Given the description of an element on the screen output the (x, y) to click on. 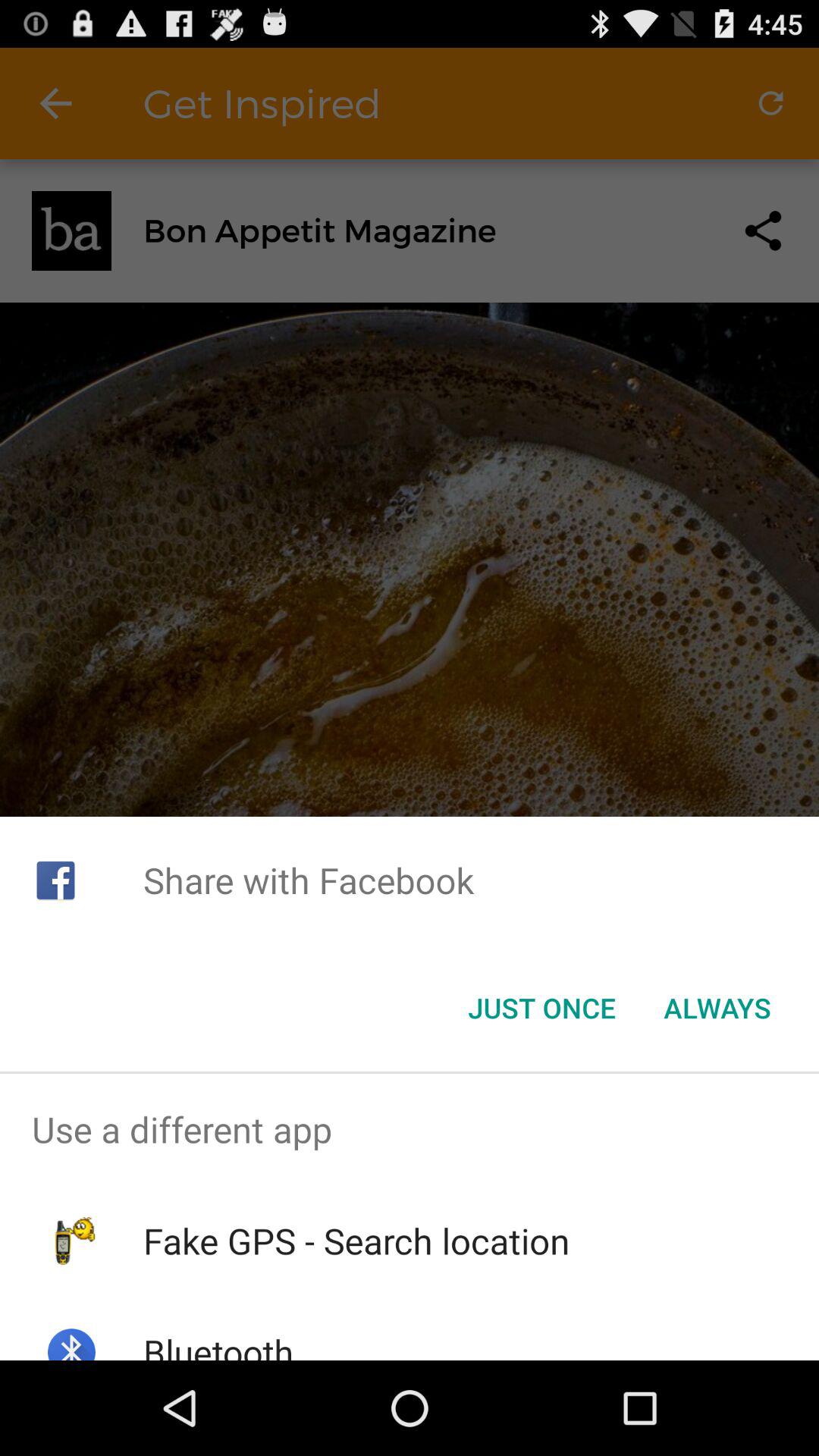
choose the item to the left of always button (541, 1007)
